Given the description of an element on the screen output the (x, y) to click on. 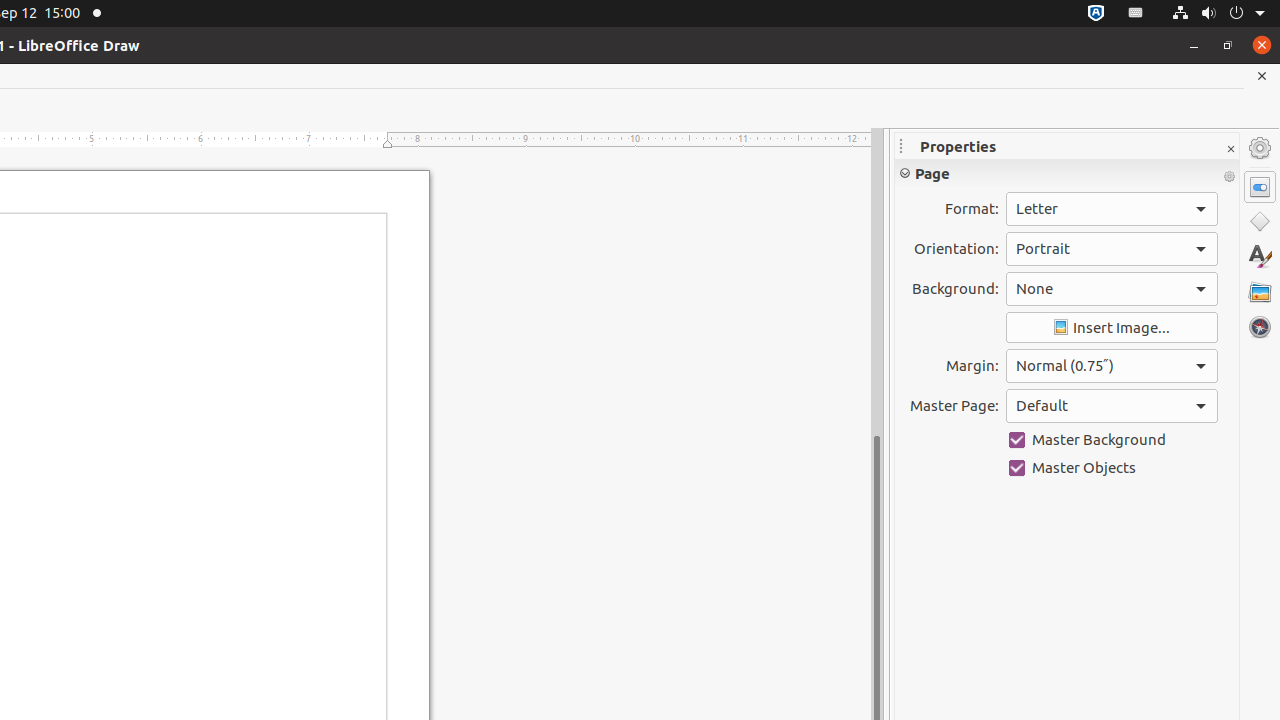
Master Background Element type: check-box (1112, 440)
More Options Element type: push-button (1229, 177)
Close Sidebar Deck Element type: push-button (1230, 149)
Background: Element type: combo-box (1112, 289)
:1.72/StatusNotifierItem Element type: menu (1096, 13)
